Given the description of an element on the screen output the (x, y) to click on. 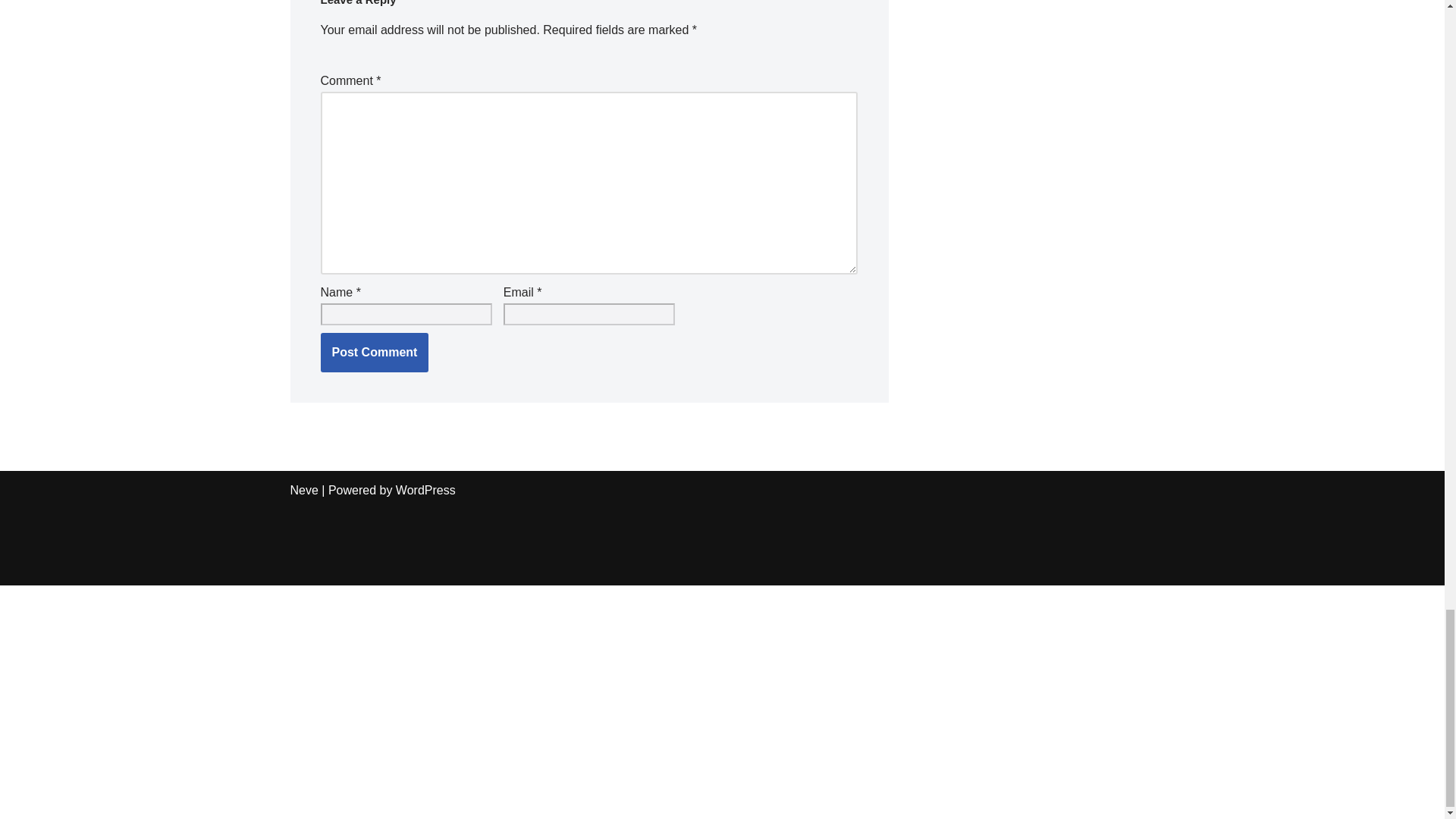
Post Comment (374, 352)
